Given the description of an element on the screen output the (x, y) to click on. 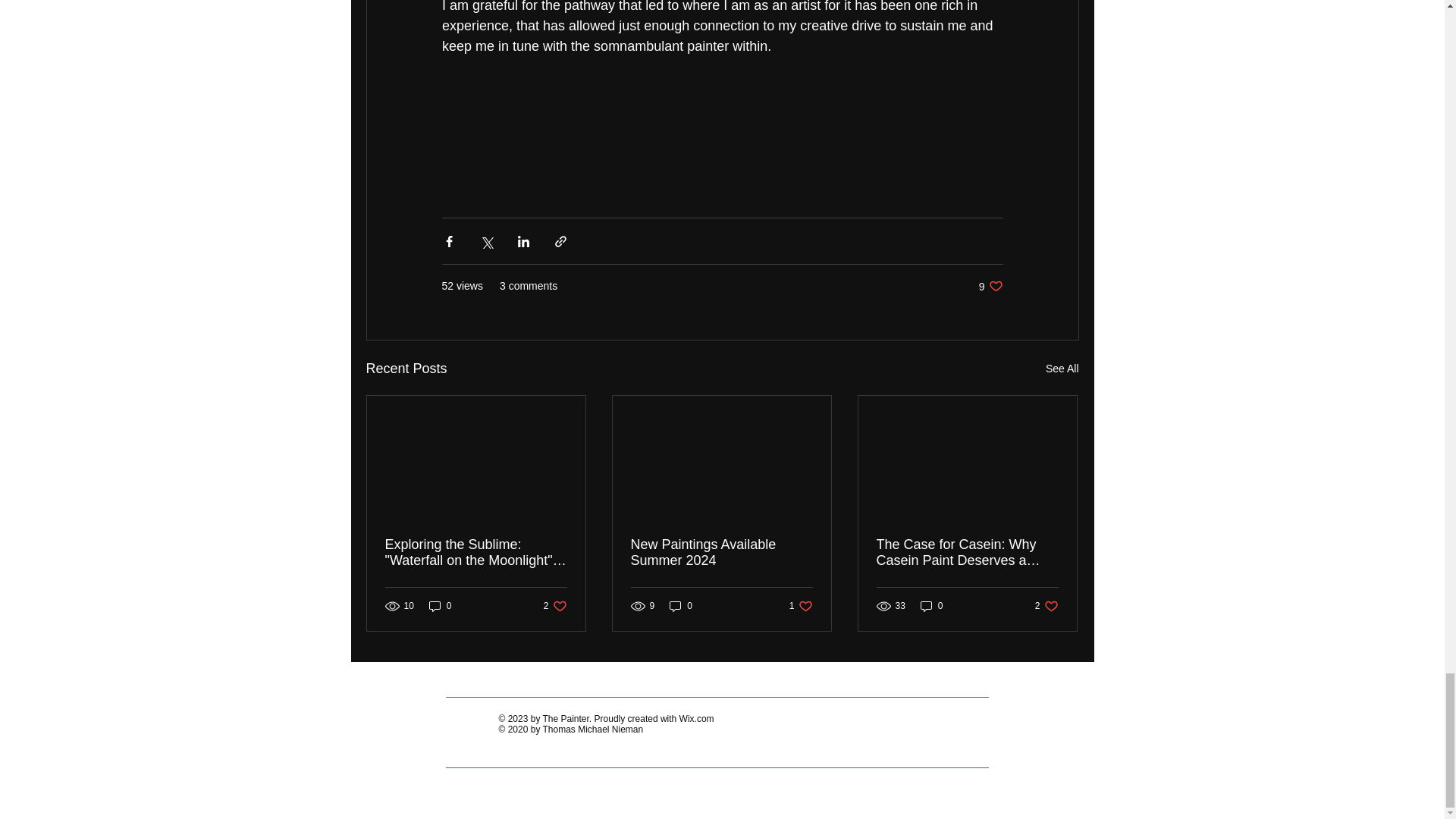
0 (681, 605)
0 (931, 605)
0 (440, 605)
New Paintings Available Summer 2024 (721, 552)
See All (555, 605)
